Given the description of an element on the screen output the (x, y) to click on. 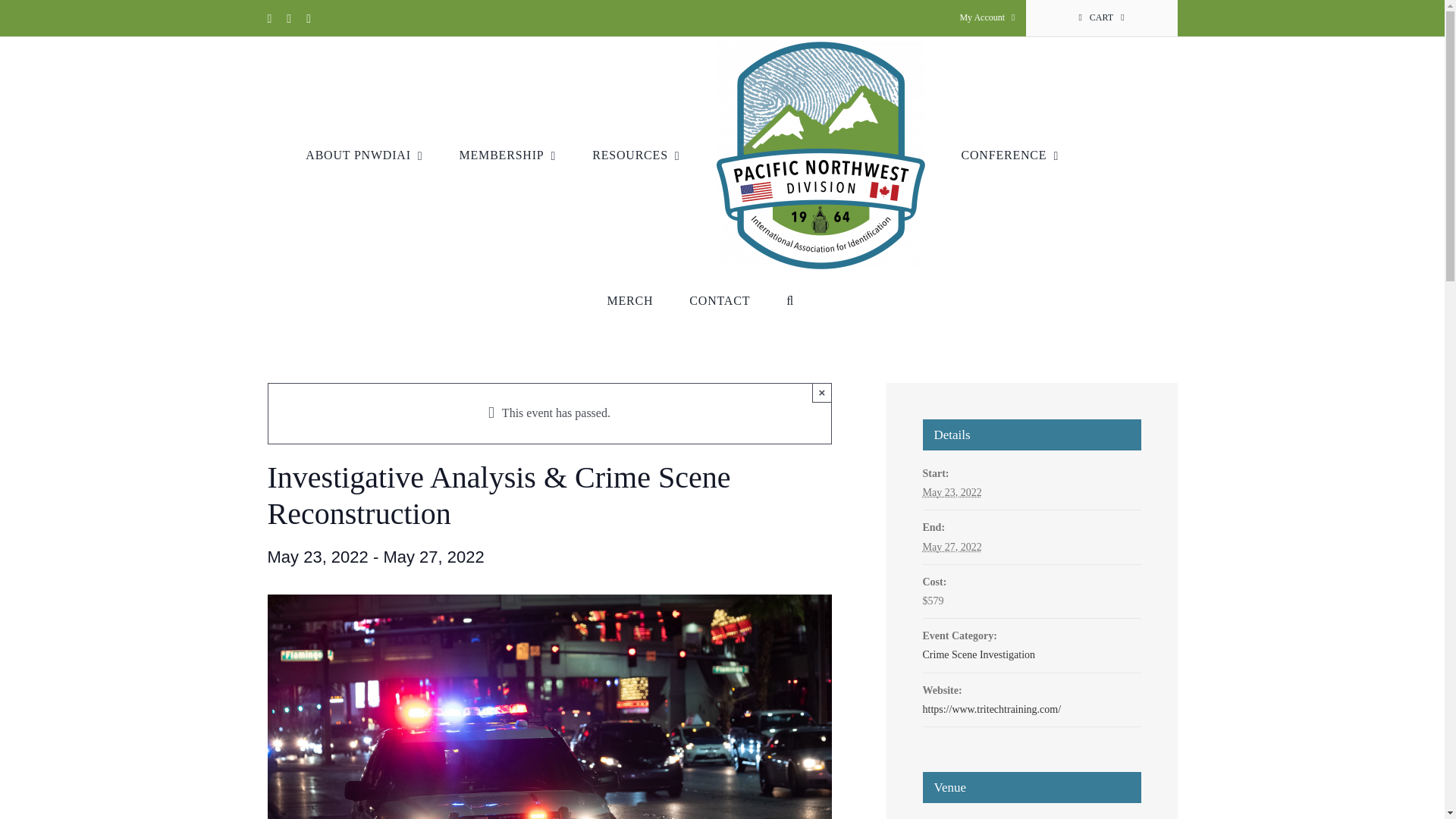
My Account (987, 18)
ABOUT PNWDIAI (363, 155)
CART (1100, 18)
RESOURCES (635, 155)
Log In (1053, 179)
CONTACT (718, 300)
CONFERENCE (1009, 155)
MEMBERSHIP (508, 155)
